Given the description of an element on the screen output the (x, y) to click on. 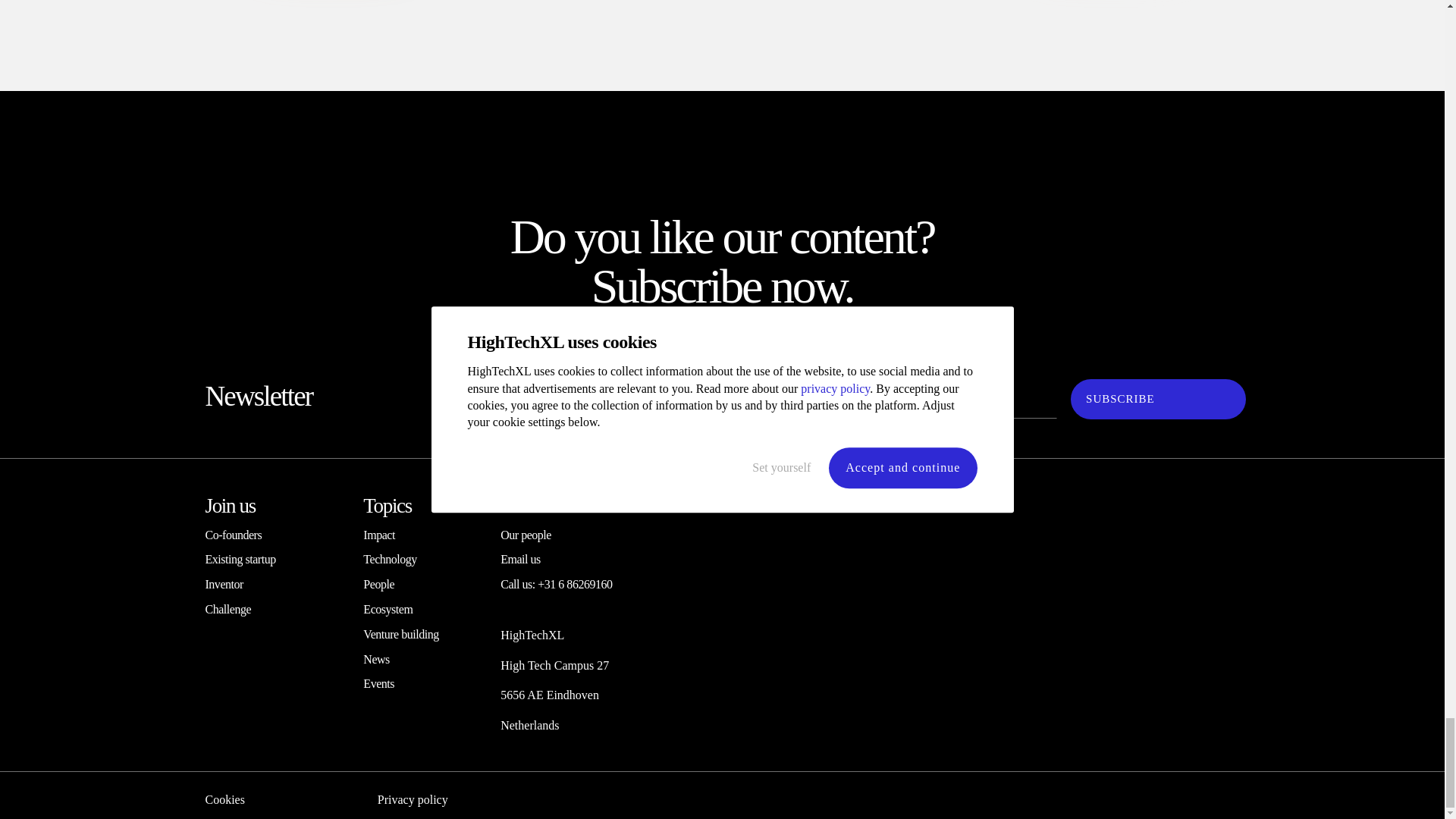
Icon label (278, 572)
Icon label (1115, 685)
Icon label (1110, 603)
Icon label (1115, 726)
